Given the description of an element on the screen output the (x, y) to click on. 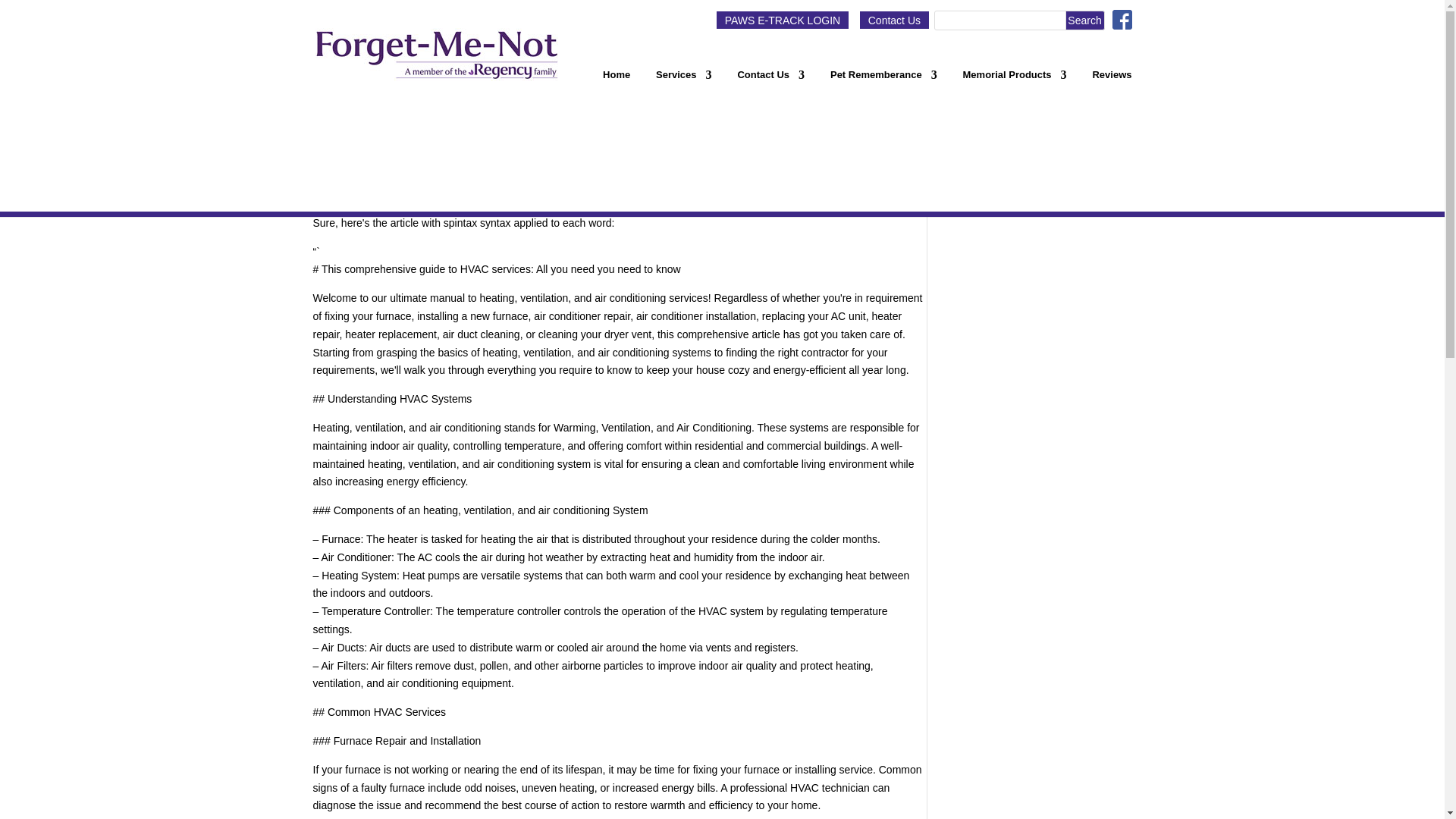
Services (683, 80)
Memorial Products (1014, 80)
Search (1085, 20)
Reviews (1111, 80)
Home (616, 80)
Contact Us (894, 19)
Contact Us (770, 80)
Pet Rememberance (883, 80)
Search (1085, 20)
Posts by 7100 (338, 165)
PAWS E-TRACK LOGIN (781, 19)
7100 (338, 165)
